Given the description of an element on the screen output the (x, y) to click on. 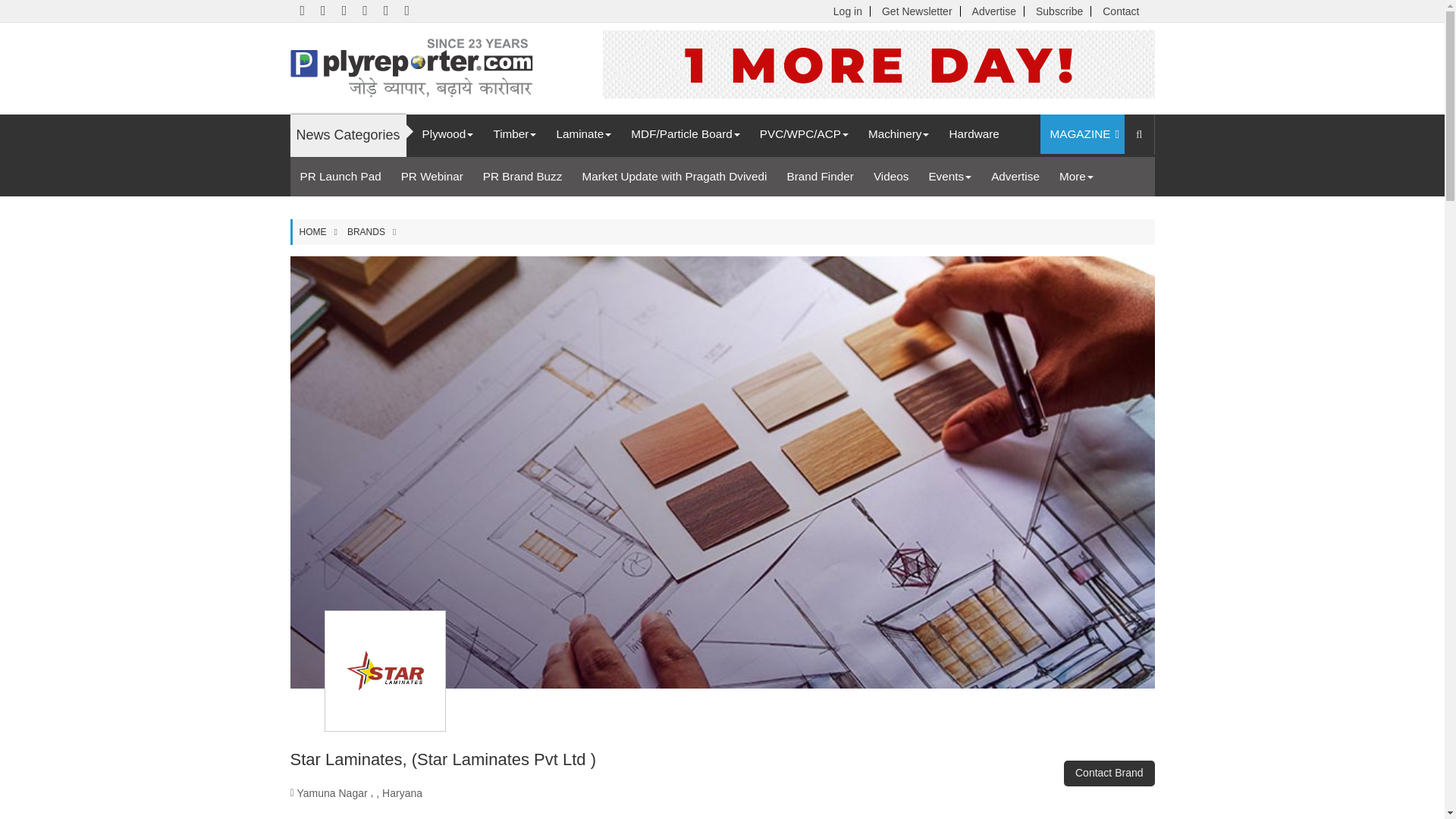
Advertise (994, 10)
Contact (1120, 10)
Subscribe (1059, 10)
Get Newsletter (917, 10)
Log in (846, 10)
